Given the description of an element on the screen output the (x, y) to click on. 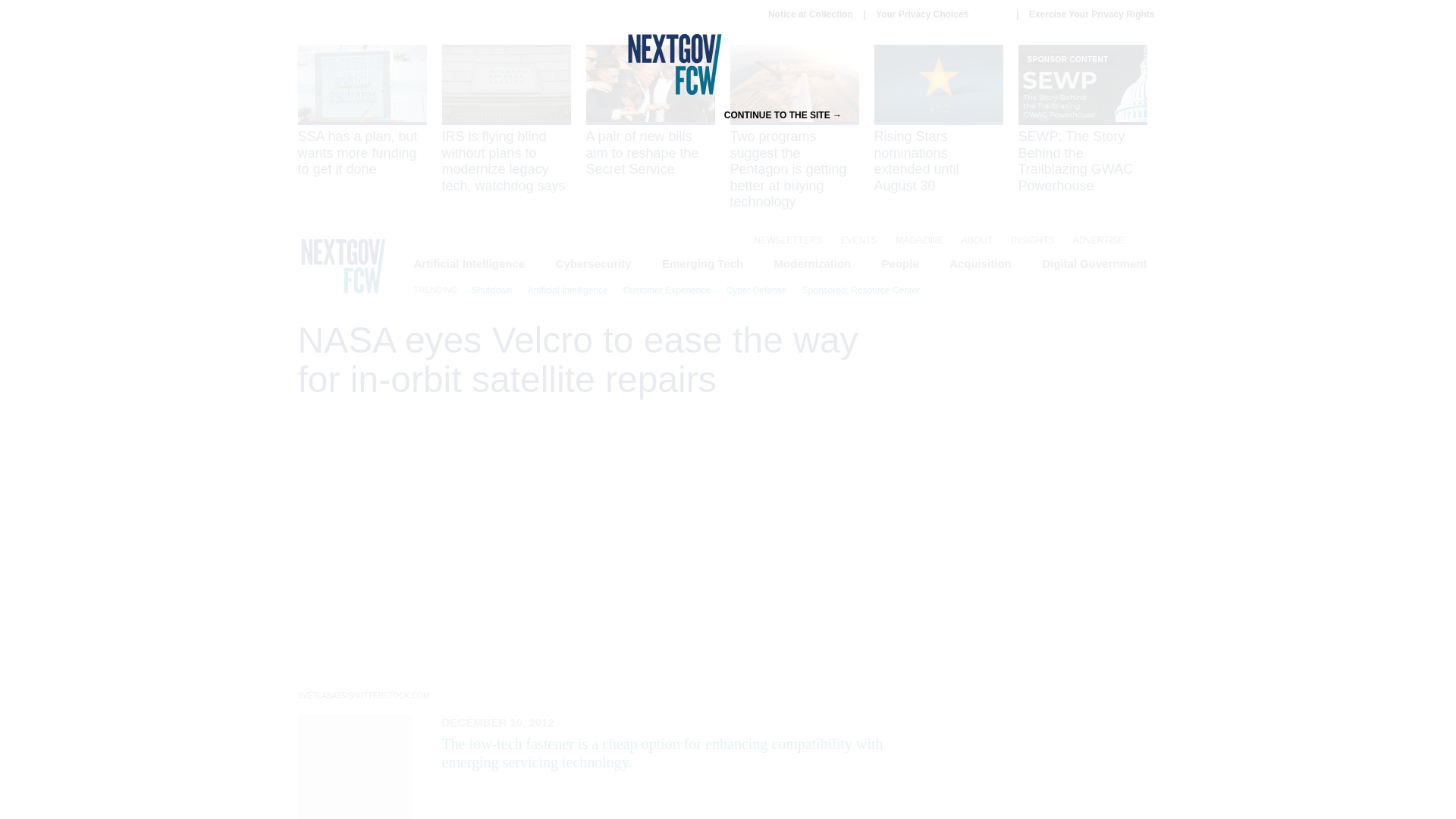
Artificial Intelligence (567, 290)
MAGAZINE (919, 240)
Cybersecurity (593, 263)
ADVERTISE (1098, 240)
Your Privacy Choices (941, 14)
EVENTS (859, 240)
Digital Government (1094, 263)
NEWSLETTERS (788, 240)
People (900, 263)
Shutdown (491, 290)
